Given the description of an element on the screen output the (x, y) to click on. 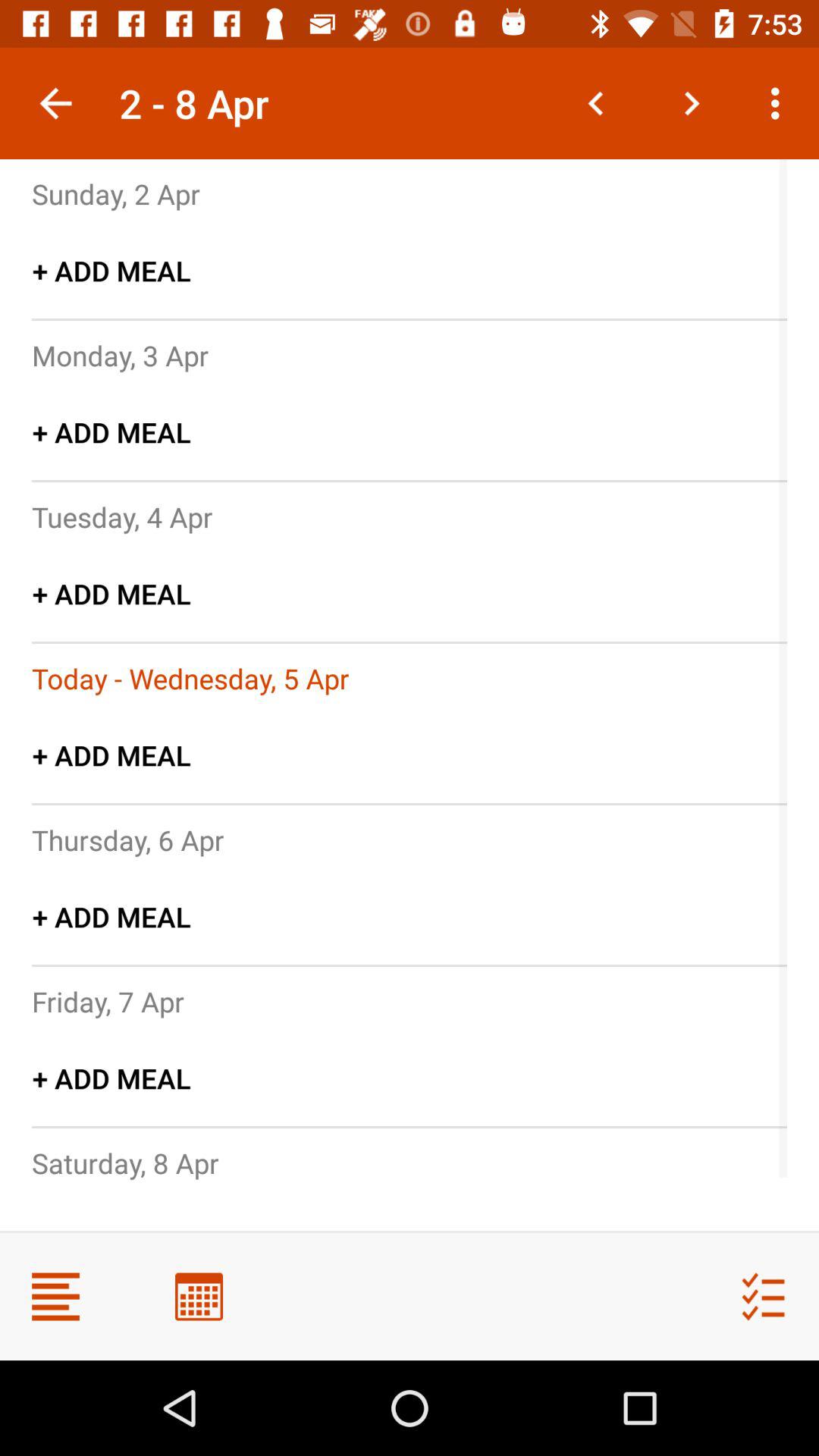
flip until the friday, 7 apr (107, 1001)
